Given the description of an element on the screen output the (x, y) to click on. 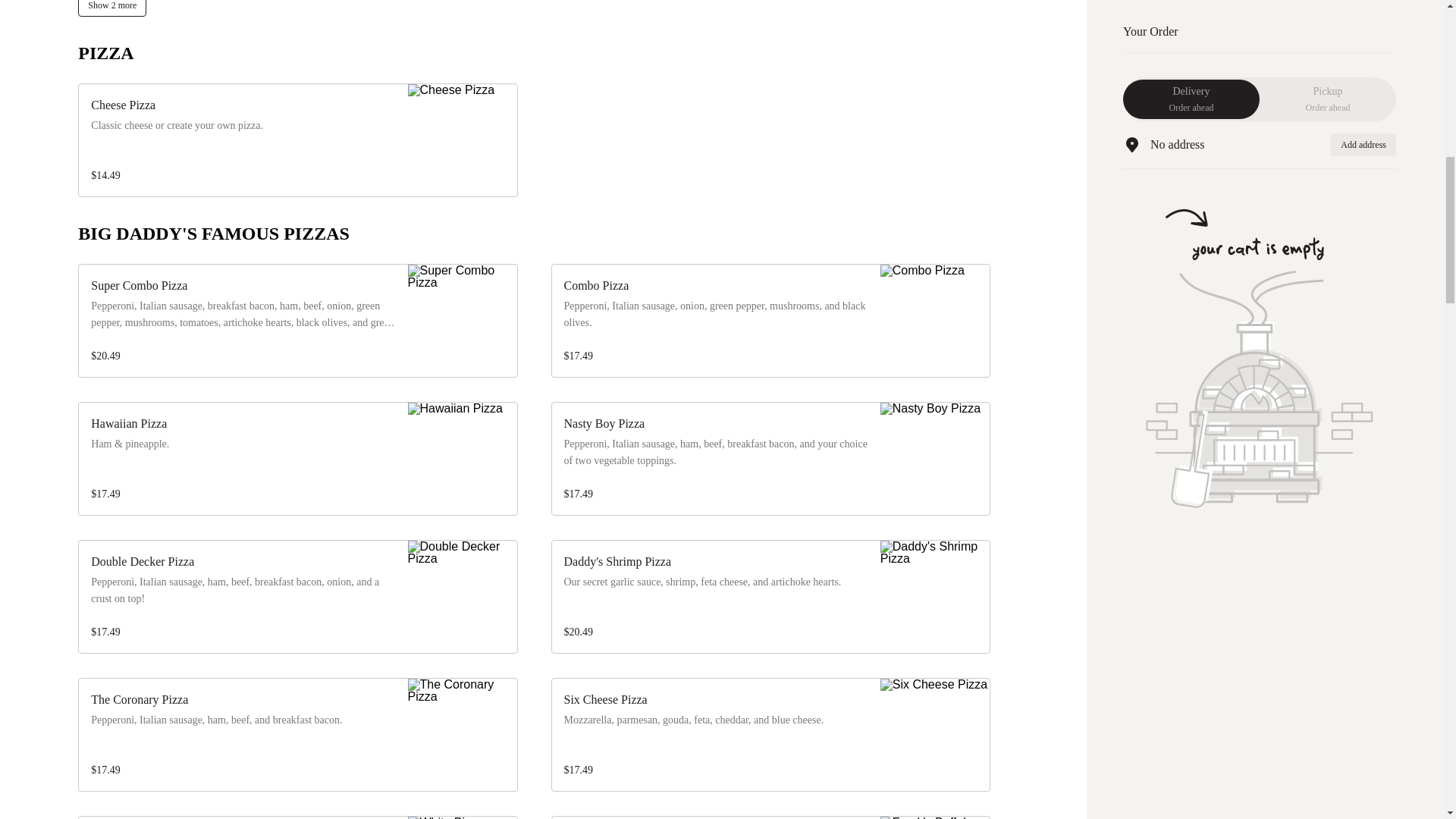
Show 2 more (112, 8)
